Given the description of an element on the screen output the (x, y) to click on. 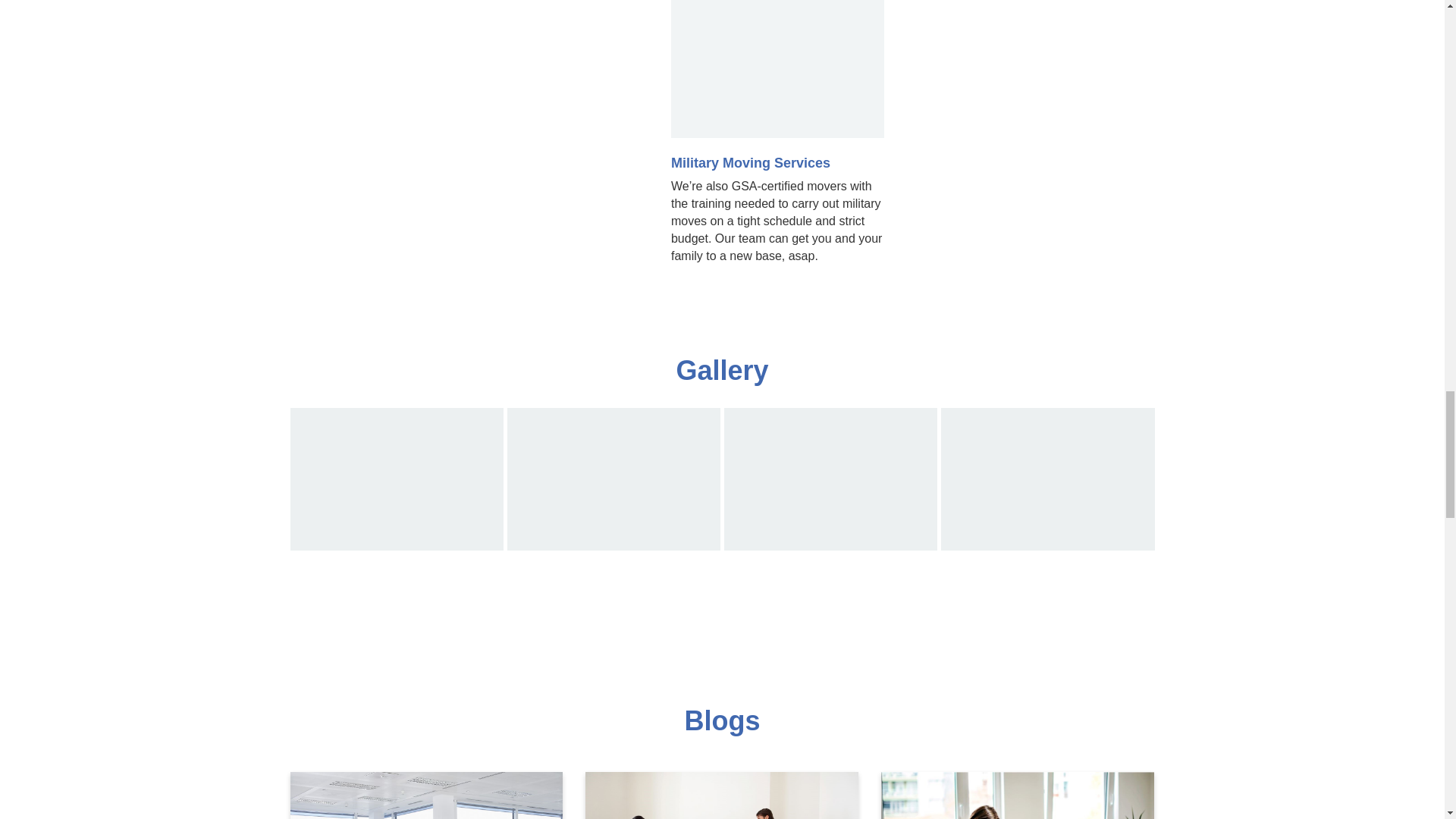
Residential 4 (1047, 478)
Residential 1 (395, 478)
Residential 2 (613, 478)
Residential 3 (830, 478)
